Given the description of an element on the screen output the (x, y) to click on. 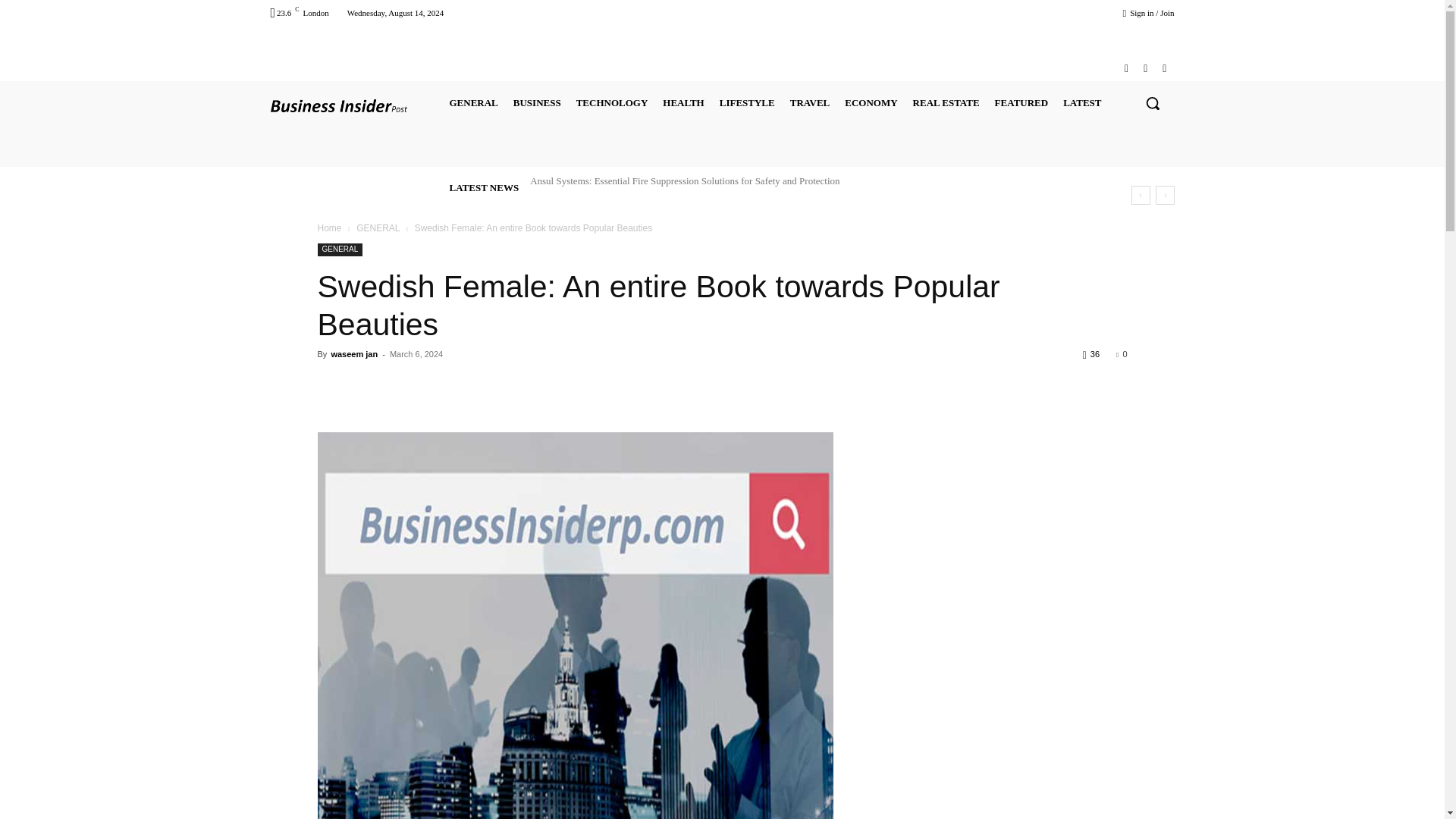
HEALTH (683, 102)
REAL ESTATE (946, 102)
LIFESTYLE (746, 102)
ECONOMY (870, 102)
TRAVEL (809, 102)
GENERAL (472, 102)
BUSINESS (536, 102)
TECHNOLOGY (611, 102)
